Given the description of an element on the screen output the (x, y) to click on. 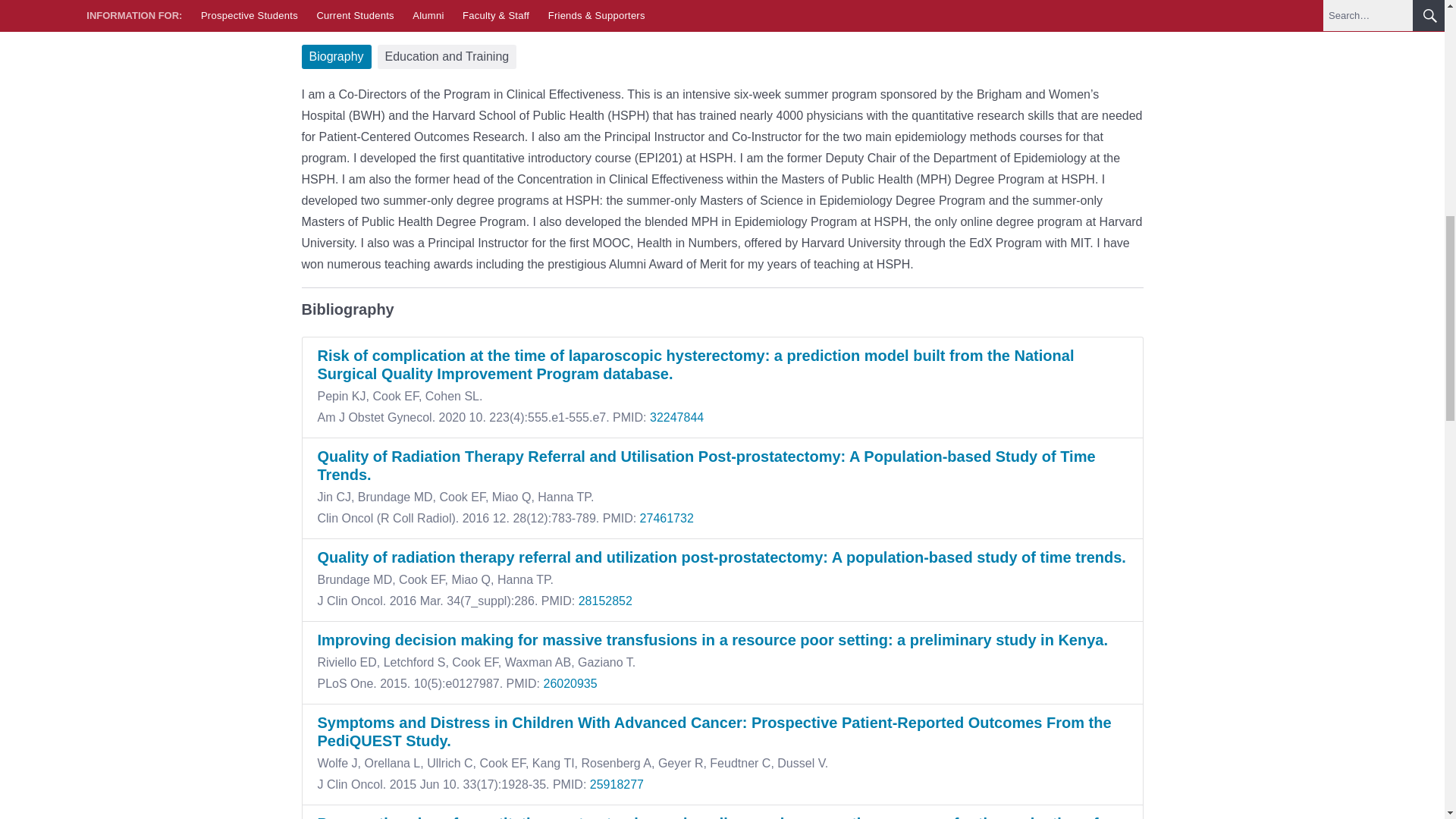
27461732 (665, 517)
25918277 (614, 784)
Biography (336, 56)
Education and Training (446, 56)
